Given the description of an element on the screen output the (x, y) to click on. 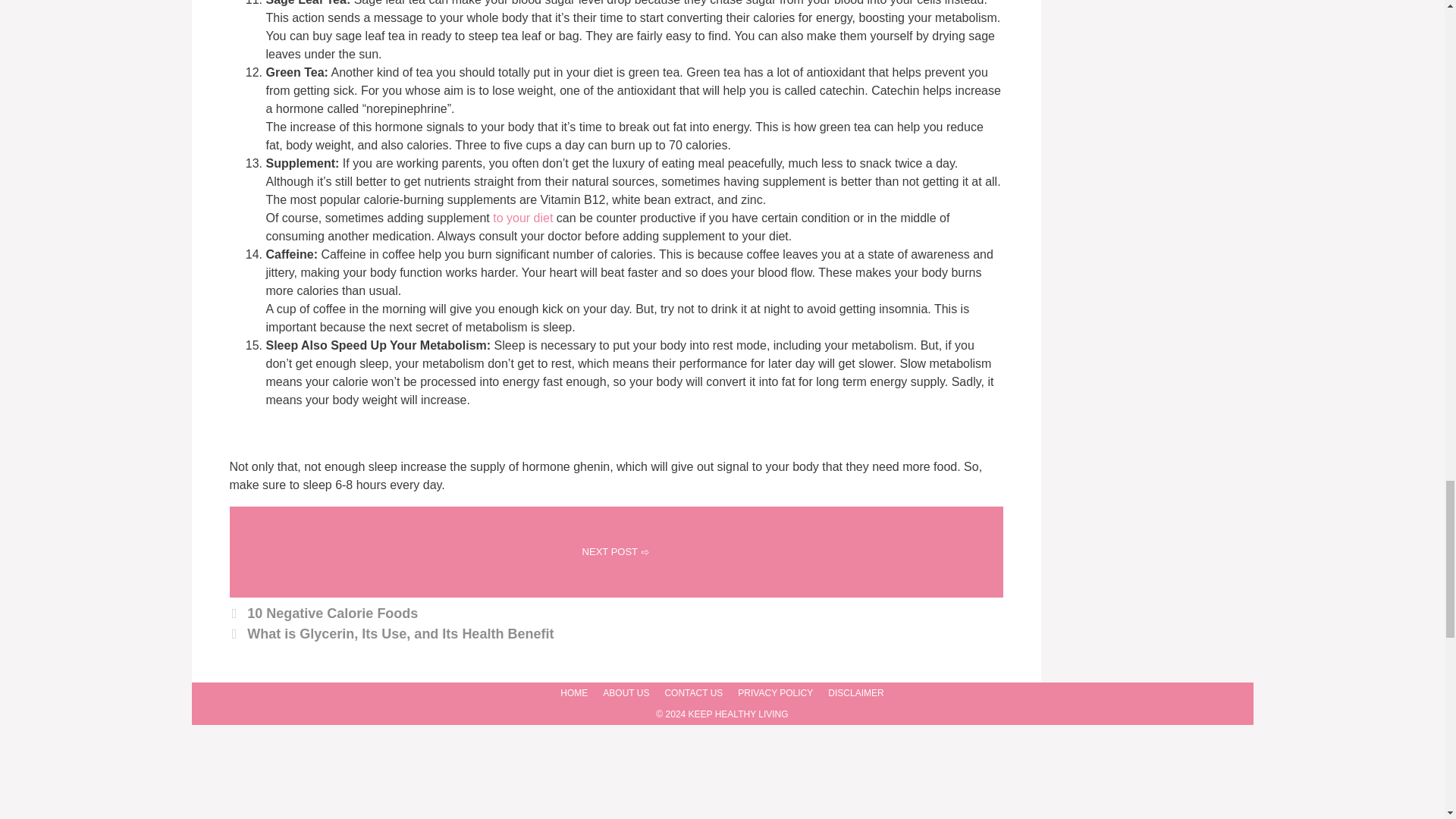
DISCLAIMER (855, 692)
ABOUT US (625, 692)
HOME (574, 692)
to your diet (521, 217)
What is Glycerin, Its Use, and Its Health Benefit (400, 633)
CONTACT US (692, 692)
10 Negative Calorie Foods (332, 613)
PRIVACY POLICY (775, 692)
